Given the description of an element on the screen output the (x, y) to click on. 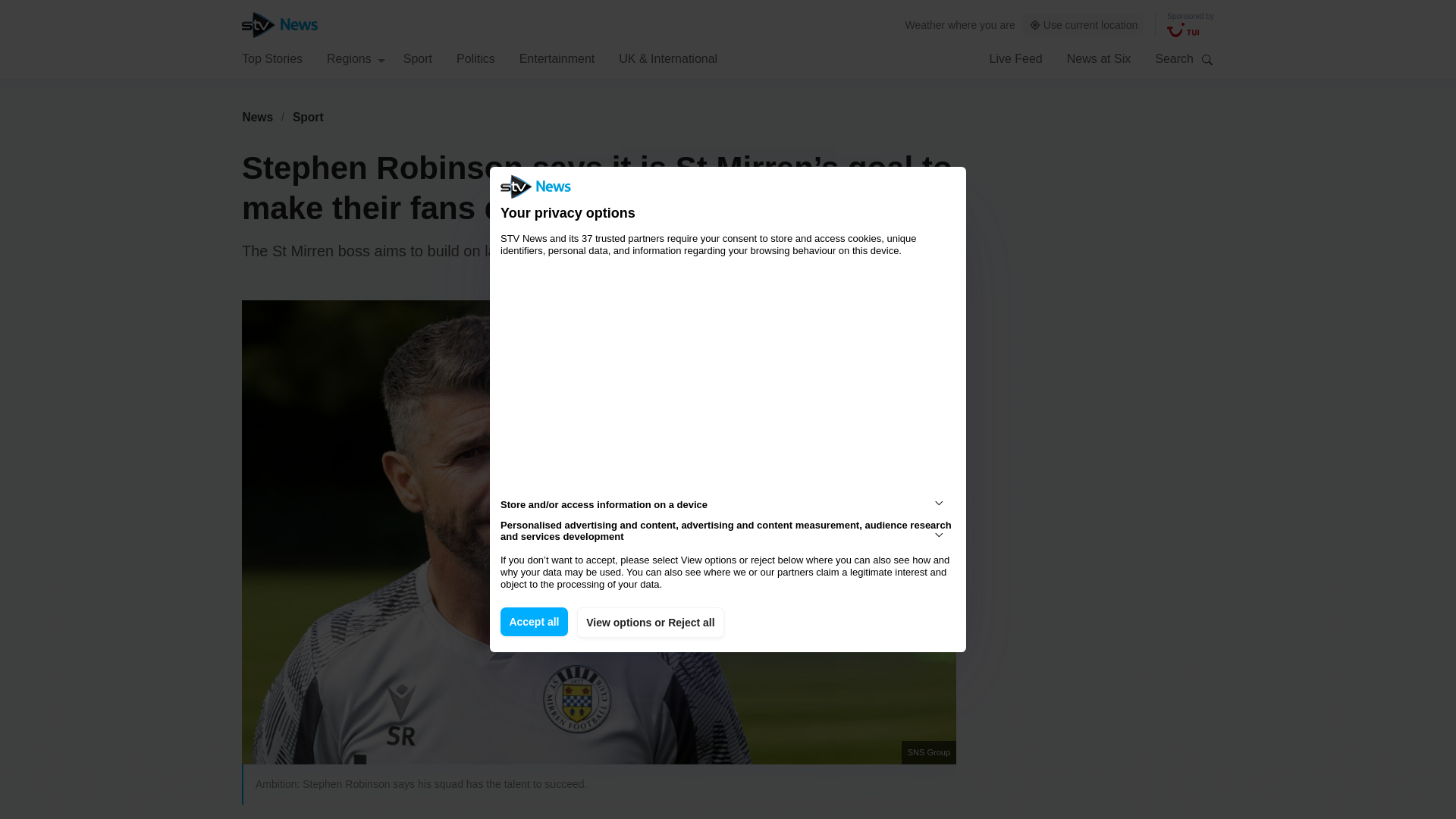
Live Feed (1015, 57)
Use current location (1083, 25)
Politics (476, 57)
Sport (308, 116)
Weather (924, 24)
Entertainment (557, 57)
Top Stories (271, 57)
Search (1206, 59)
News (257, 116)
Regions (355, 57)
News at Six (1099, 57)
